Given the description of an element on the screen output the (x, y) to click on. 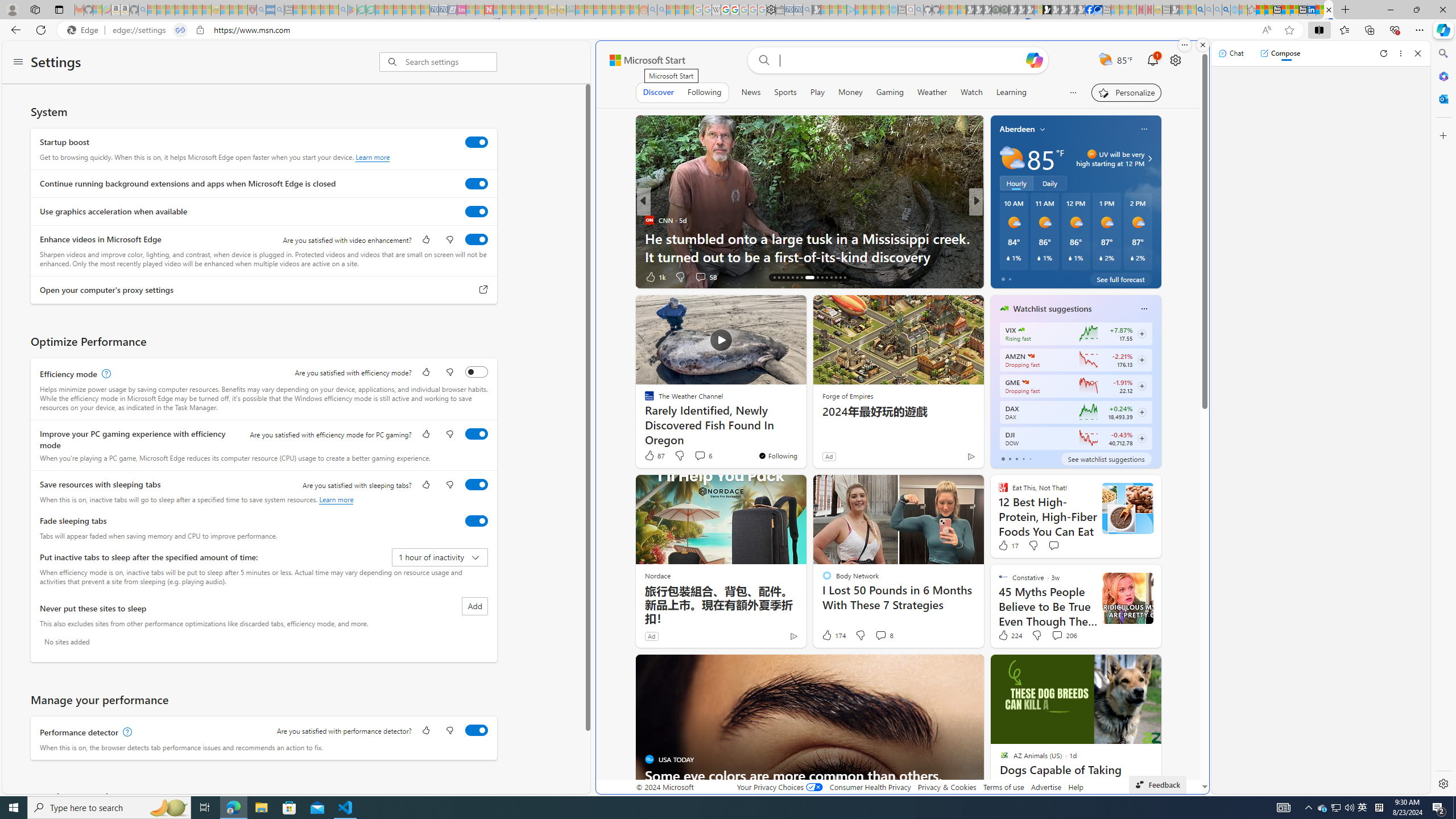
87 Like (654, 455)
Money (850, 92)
AQI & Health | AirNow.gov (1098, 9)
Efficiency mode (476, 371)
Close split screen. (1202, 45)
Class: weather-arrow-glyph (1149, 158)
google - Search - Sleeping (342, 9)
Expert Portfolios - Sleeping (606, 9)
Target page - Wikipedia - Sleeping (716, 9)
6 things that annoy every Windows PC user (1159, 256)
